Given the description of an element on the screen output the (x, y) to click on. 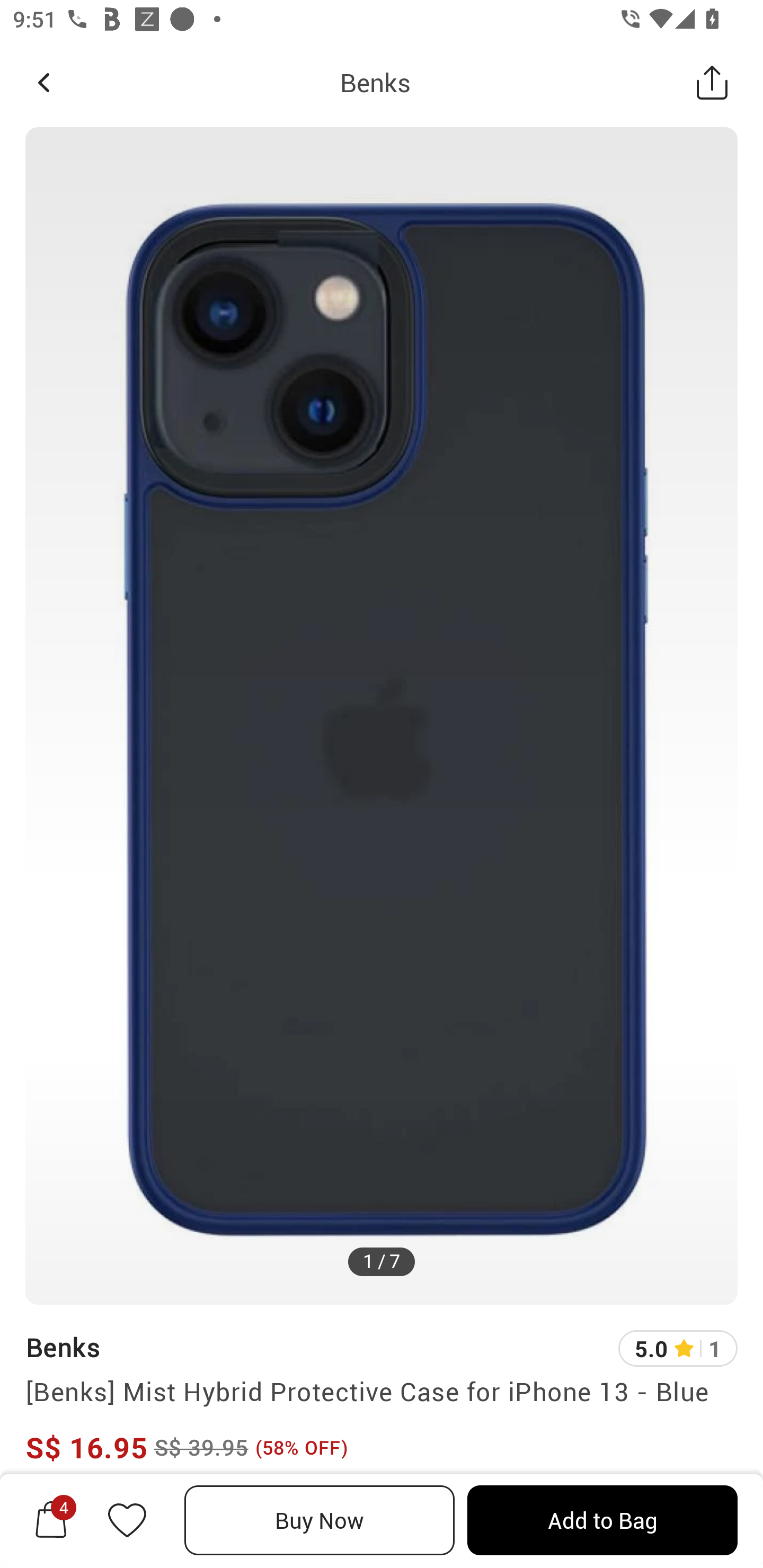
Benks (375, 82)
Share this Product (711, 82)
Benks (62, 1346)
5.0 1 (677, 1348)
Buy Now (319, 1519)
Add to Bag (601, 1519)
4 (50, 1520)
